Given the description of an element on the screen output the (x, y) to click on. 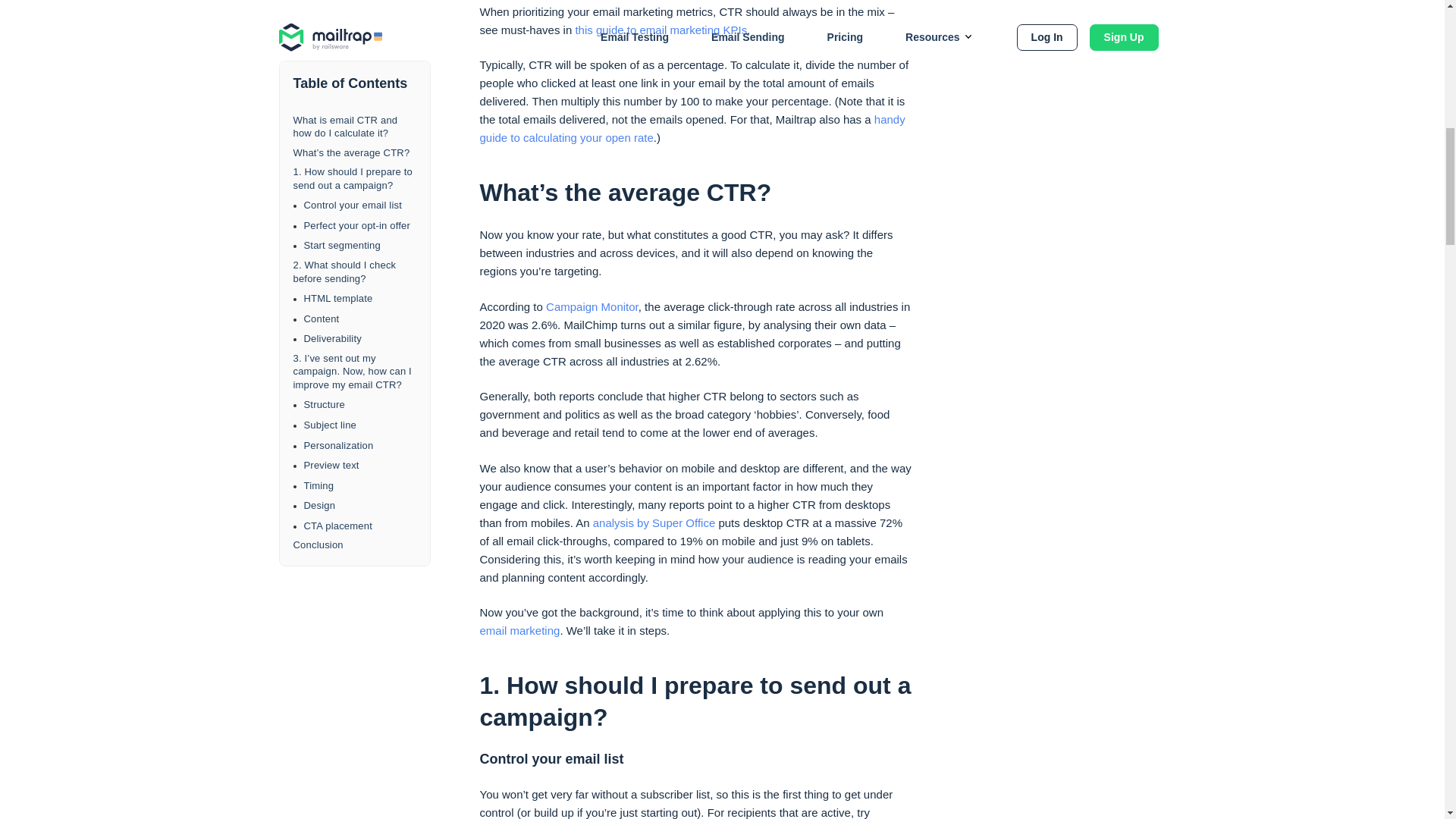
Personalization (358, 37)
Timing (358, 77)
Structure (358, 1)
Subject line (358, 16)
Preview text (358, 56)
